Given the description of an element on the screen output the (x, y) to click on. 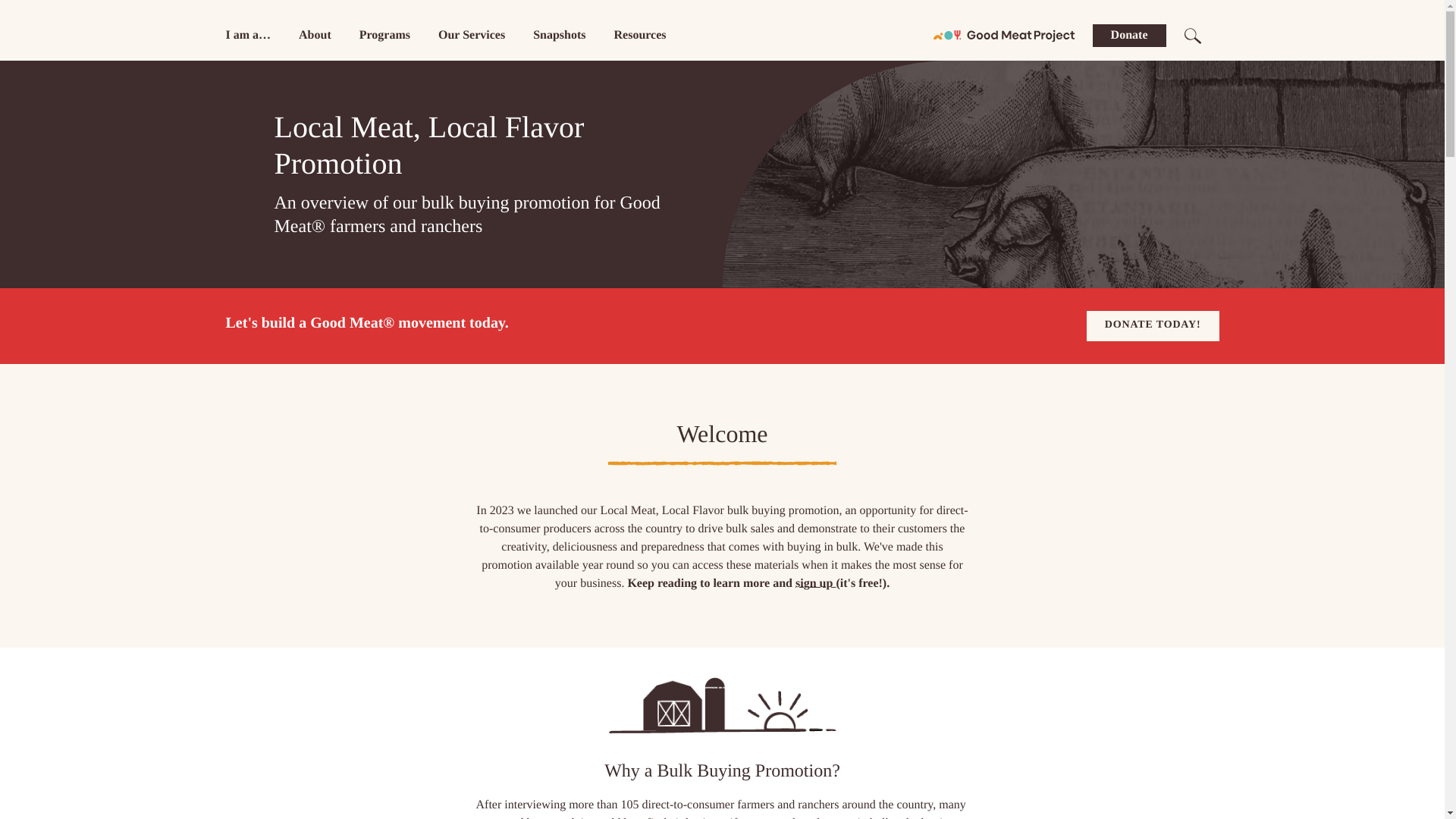
Our Services (471, 35)
Programs (384, 35)
Resources (640, 35)
About (314, 35)
Snapshots (558, 35)
